Given the description of an element on the screen output the (x, y) to click on. 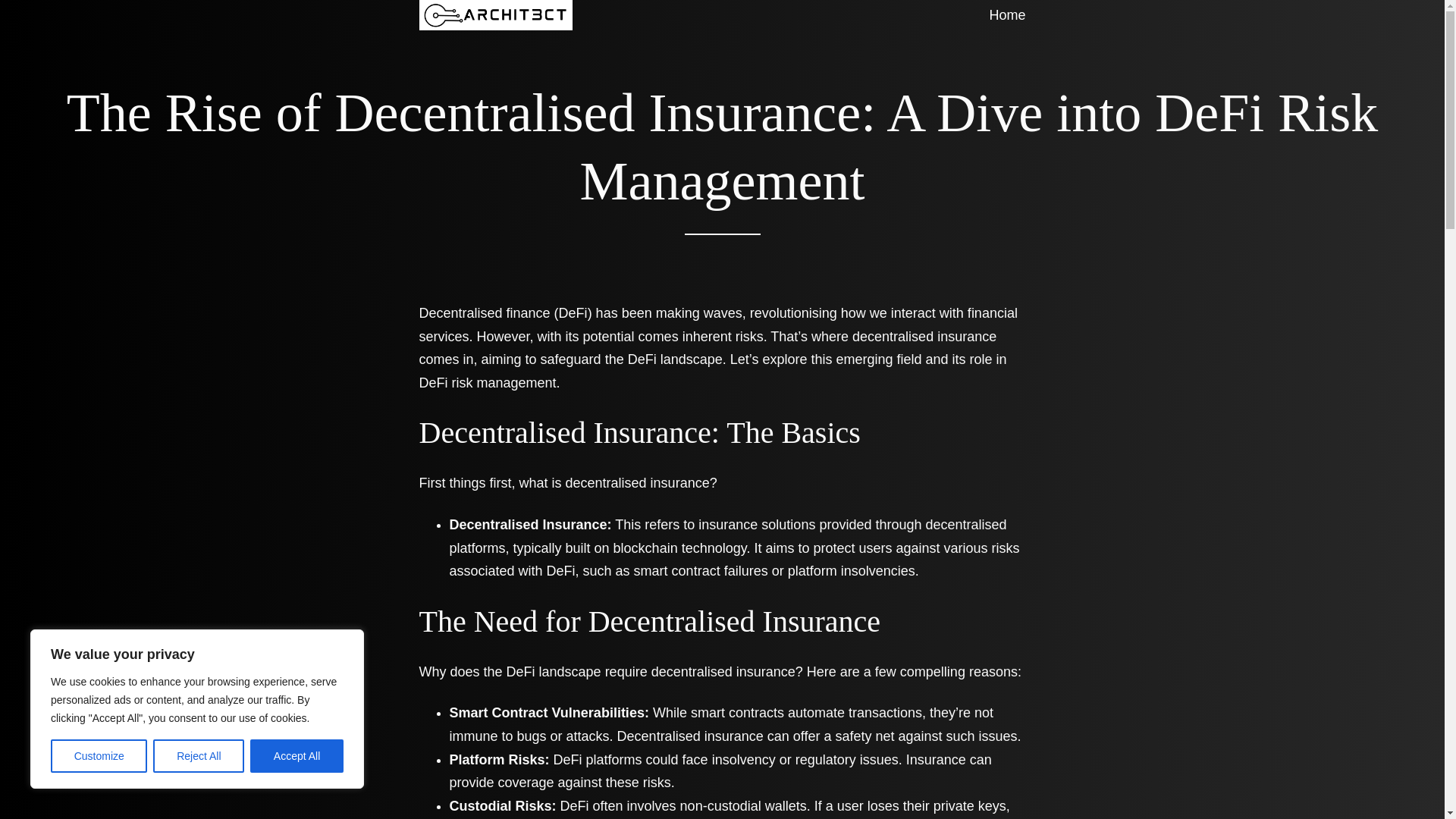
Home (1006, 15)
smart contracts (737, 712)
DeFi (573, 313)
smart contract (676, 570)
blockchain (645, 548)
Customize (98, 756)
DeFi risk management (487, 382)
Reject All (198, 756)
Decentralised finance (484, 313)
Accept All (296, 756)
